Given the description of an element on the screen output the (x, y) to click on. 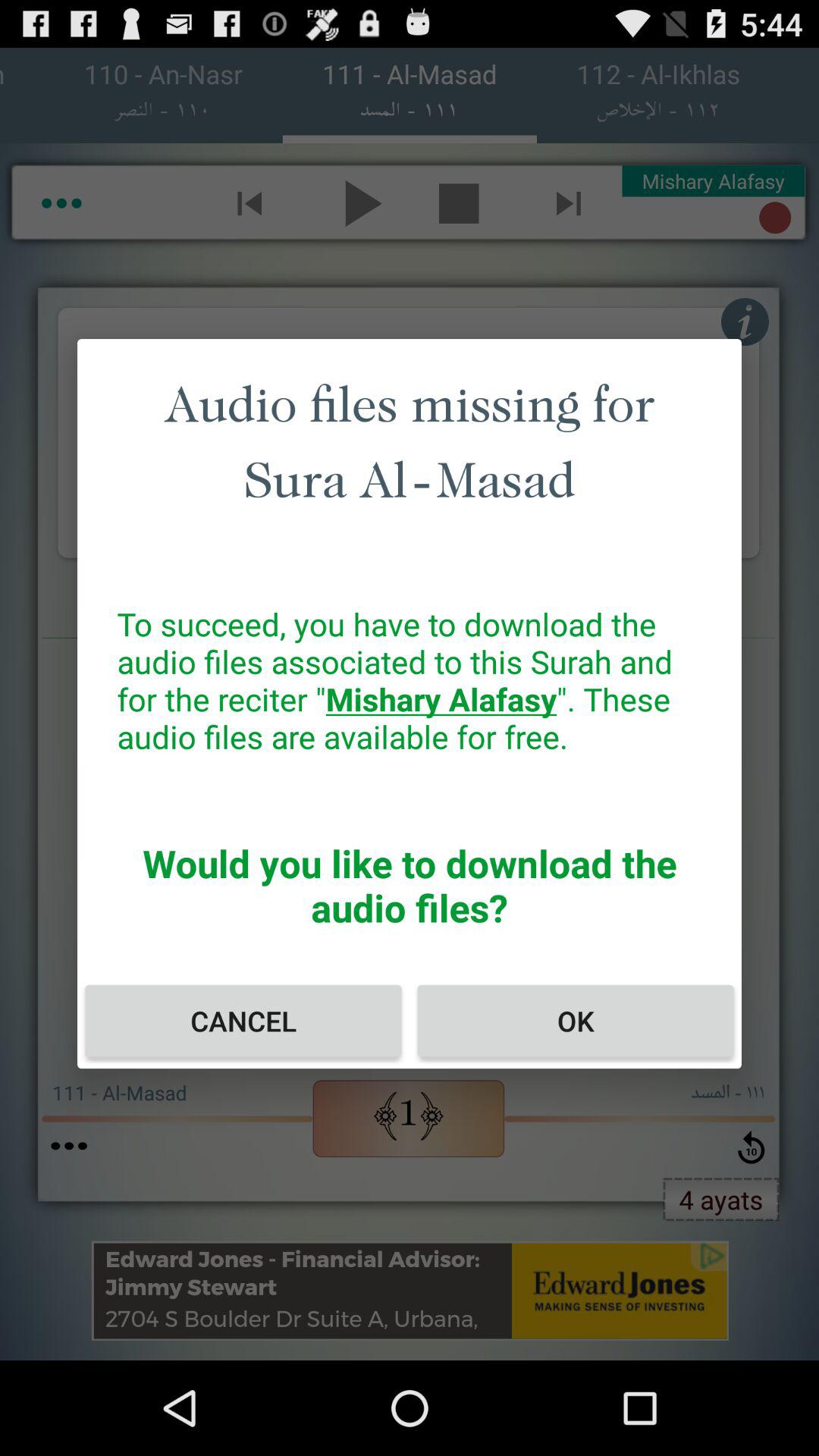
choose item at the bottom left corner (243, 1020)
